Given the description of an element on the screen output the (x, y) to click on. 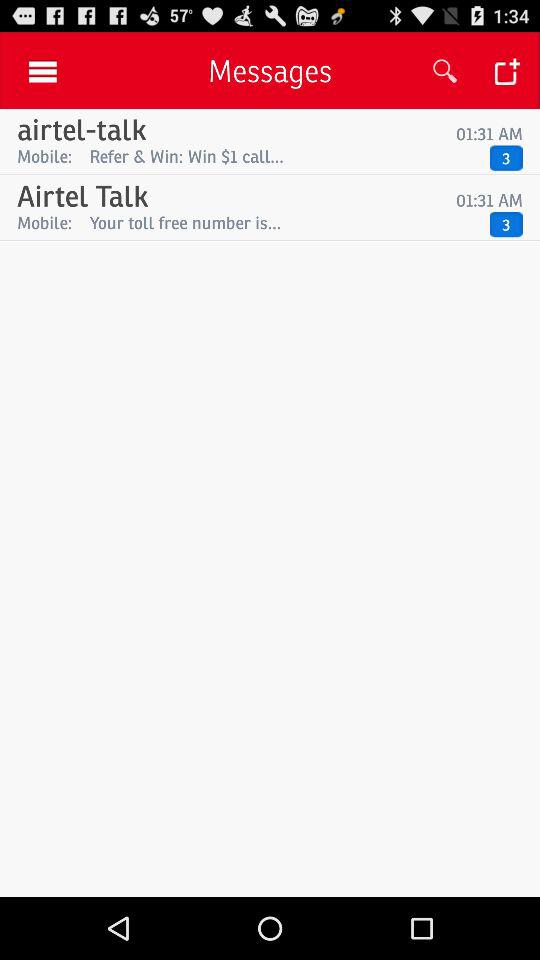
turn on app below the 01:31 am (284, 156)
